Given the description of an element on the screen output the (x, y) to click on. 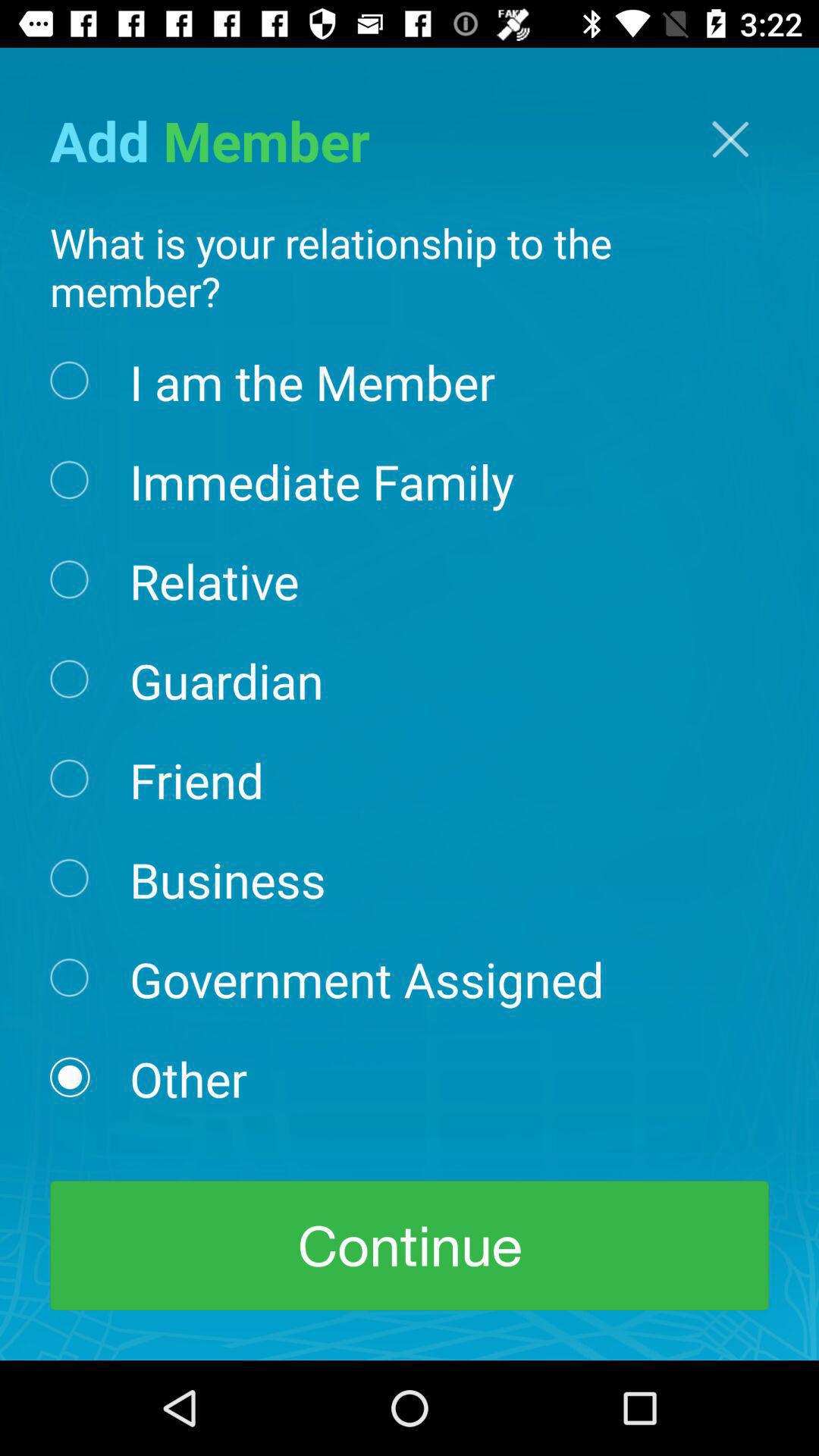
swipe to the government assigned item (366, 977)
